Given the description of an element on the screen output the (x, y) to click on. 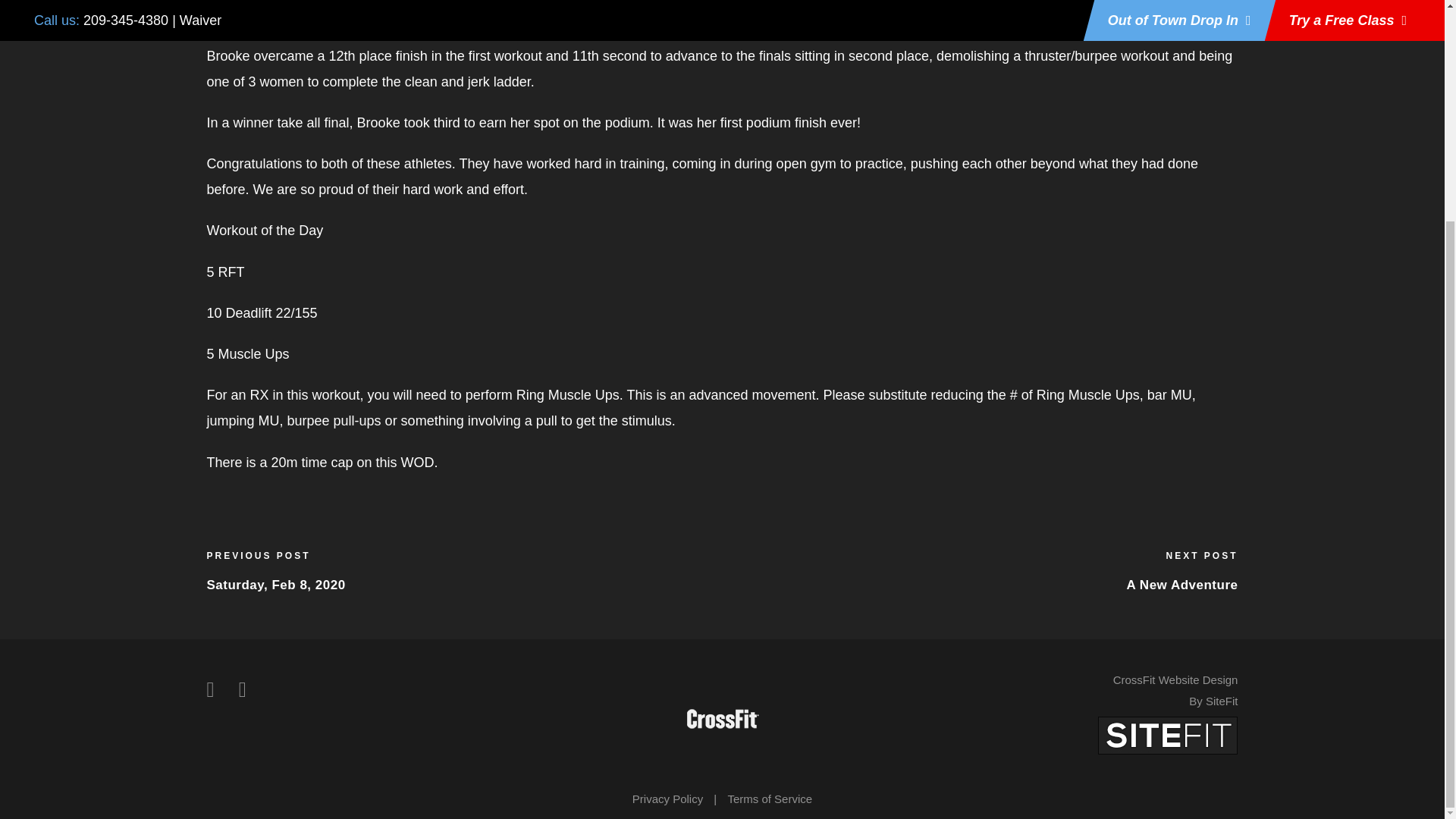
facebook (210, 689)
Saturday, Feb 8, 2020 (275, 584)
CrossFit Website Design By SiteFit (1176, 690)
CrossFit Website Design By SiteFit (1167, 734)
instagram (242, 689)
A New Adventure (1182, 584)
